Given the description of an element on the screen output the (x, y) to click on. 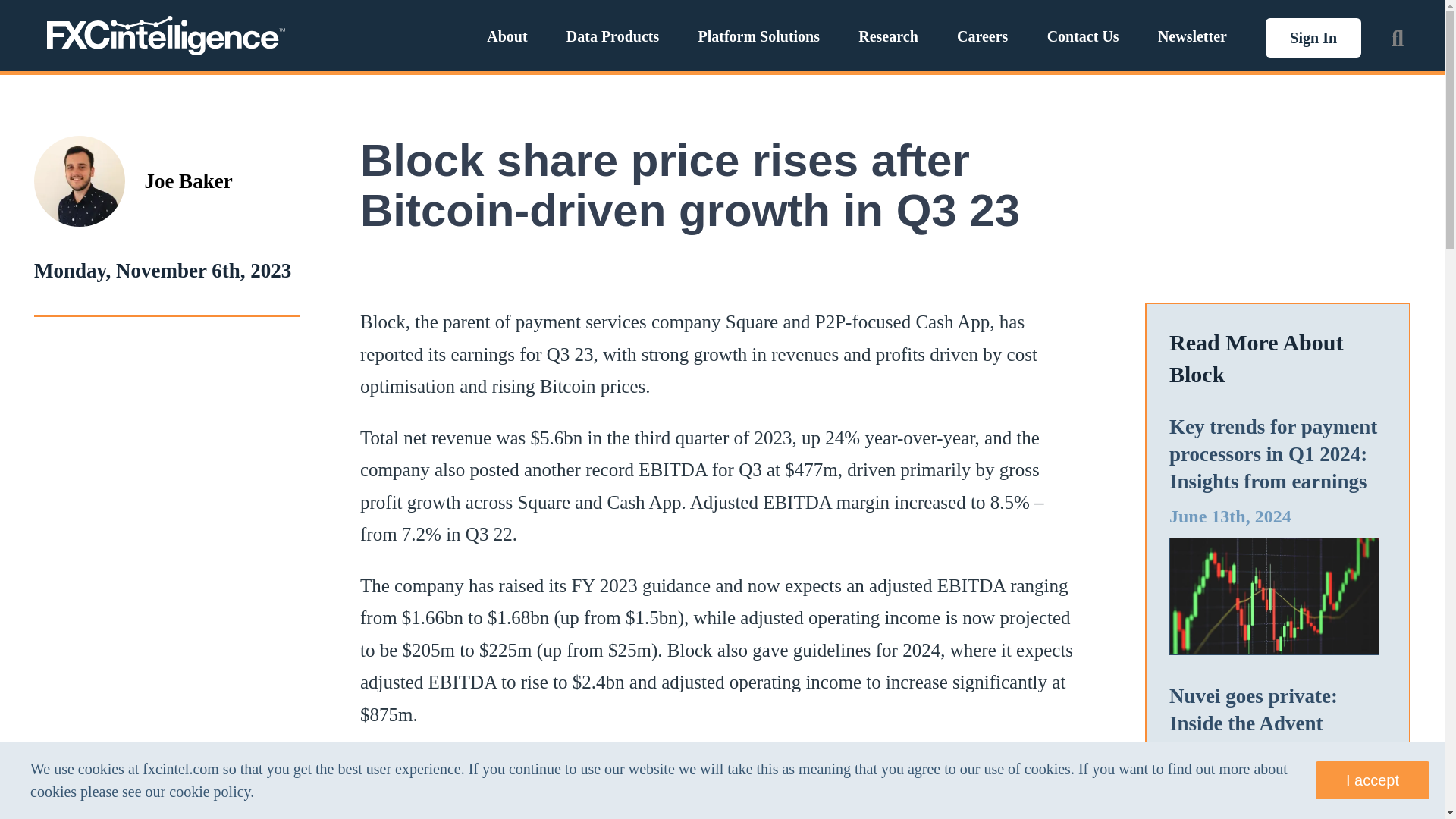
Sign In (1313, 37)
Nuvei goes private: Inside the Advent International deal (1253, 723)
About (506, 36)
Newsletter (1192, 36)
Research (888, 36)
Data Products (612, 36)
Careers (981, 36)
Sign In (1313, 37)
Joe Baker (187, 180)
Contact Us (1082, 36)
Platform Solutions (758, 36)
Sign In (1313, 36)
